Given the description of an element on the screen output the (x, y) to click on. 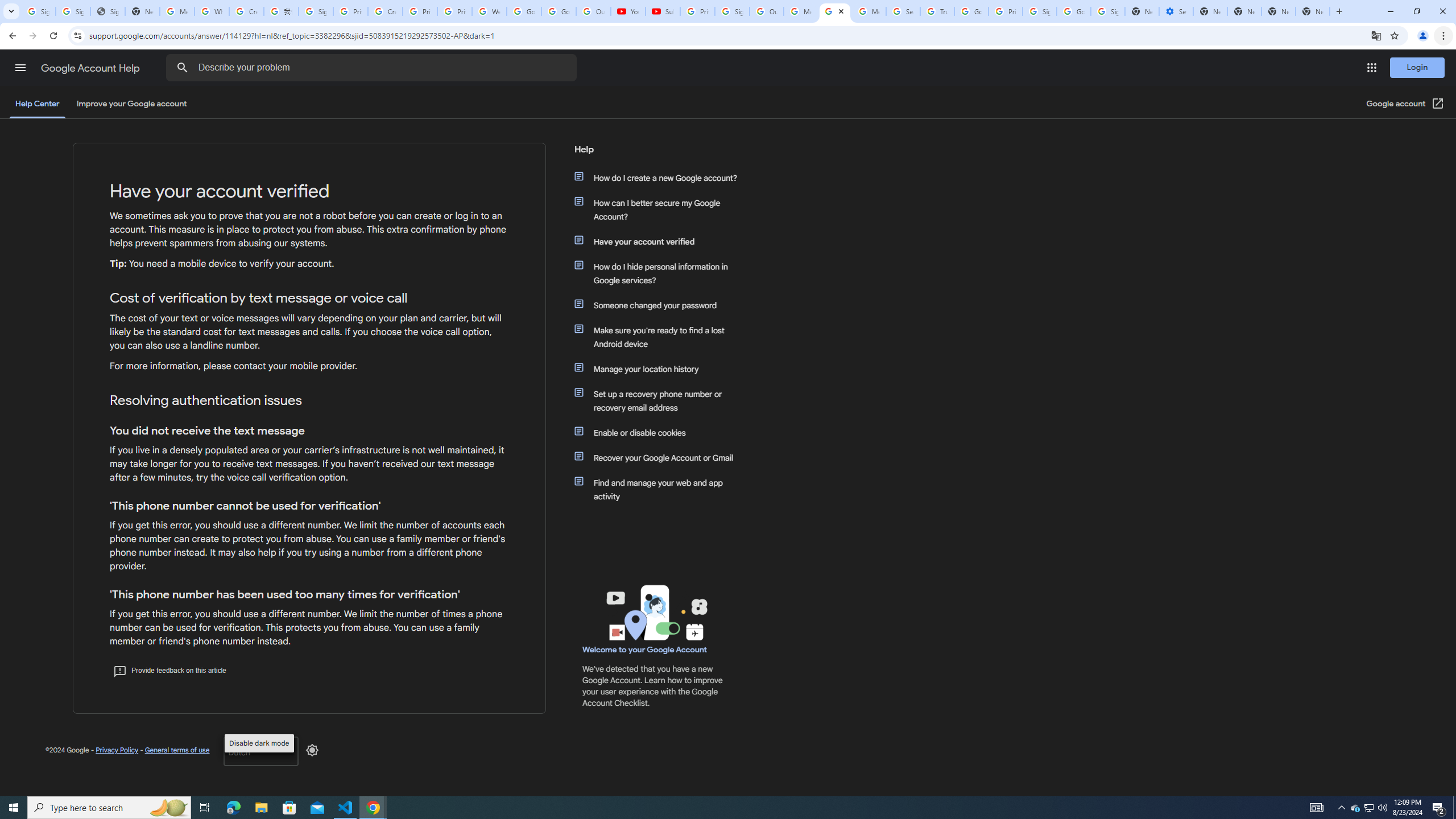
Enable or disable cookies (661, 432)
General terms of use (176, 749)
Find and manage your web and app activity (661, 489)
Sign in - Google Accounts (1039, 11)
Manage your location history (661, 368)
How can I better secure my Google Account? (661, 209)
YouTube (627, 11)
Sign in - Google Accounts (73, 11)
Disable dark mode (312, 750)
